Given the description of an element on the screen output the (x, y) to click on. 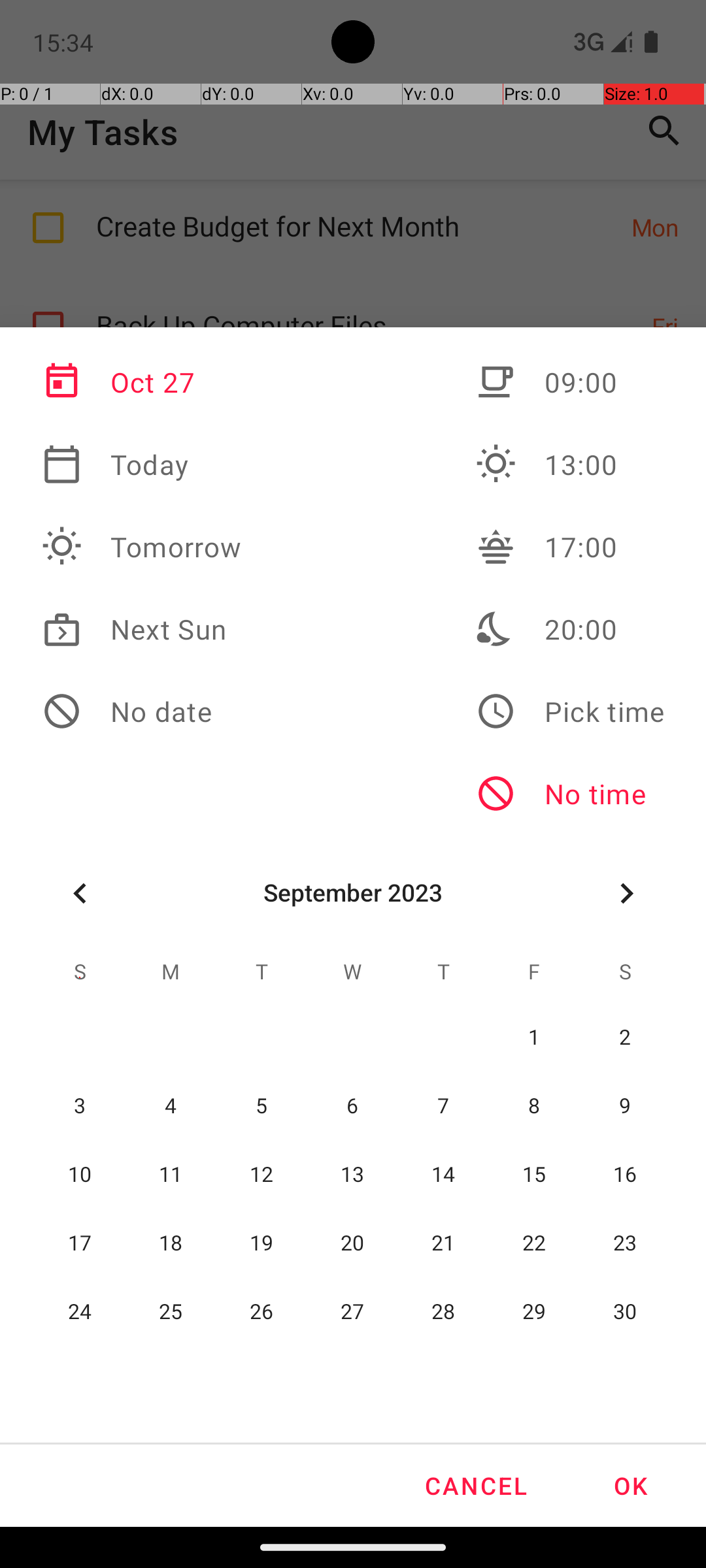
Oct 27 Element type: android.widget.CompoundButton (141, 382)
